Given the description of an element on the screen output the (x, y) to click on. 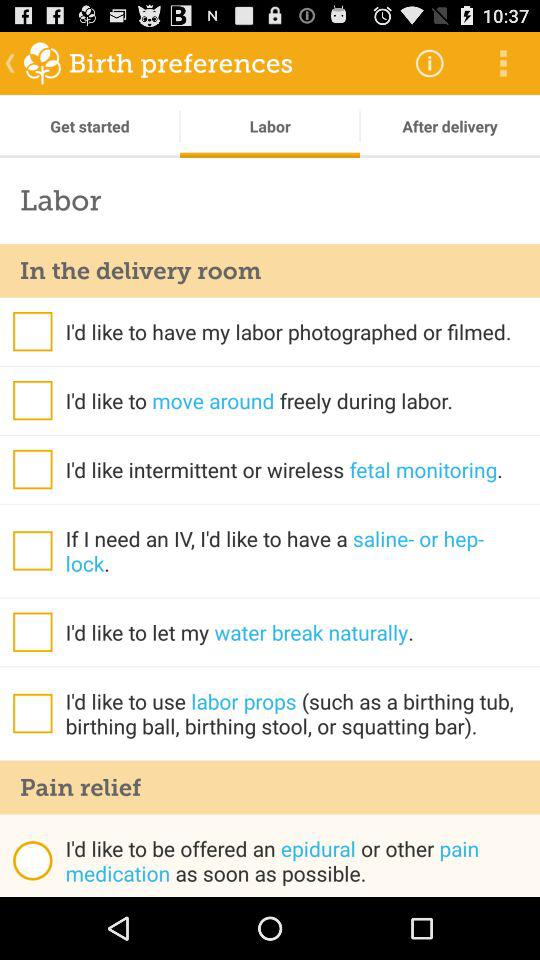
select if i need an iv i 'd like to have a saline- or hep- lock (32, 550)
